Given the description of an element on the screen output the (x, y) to click on. 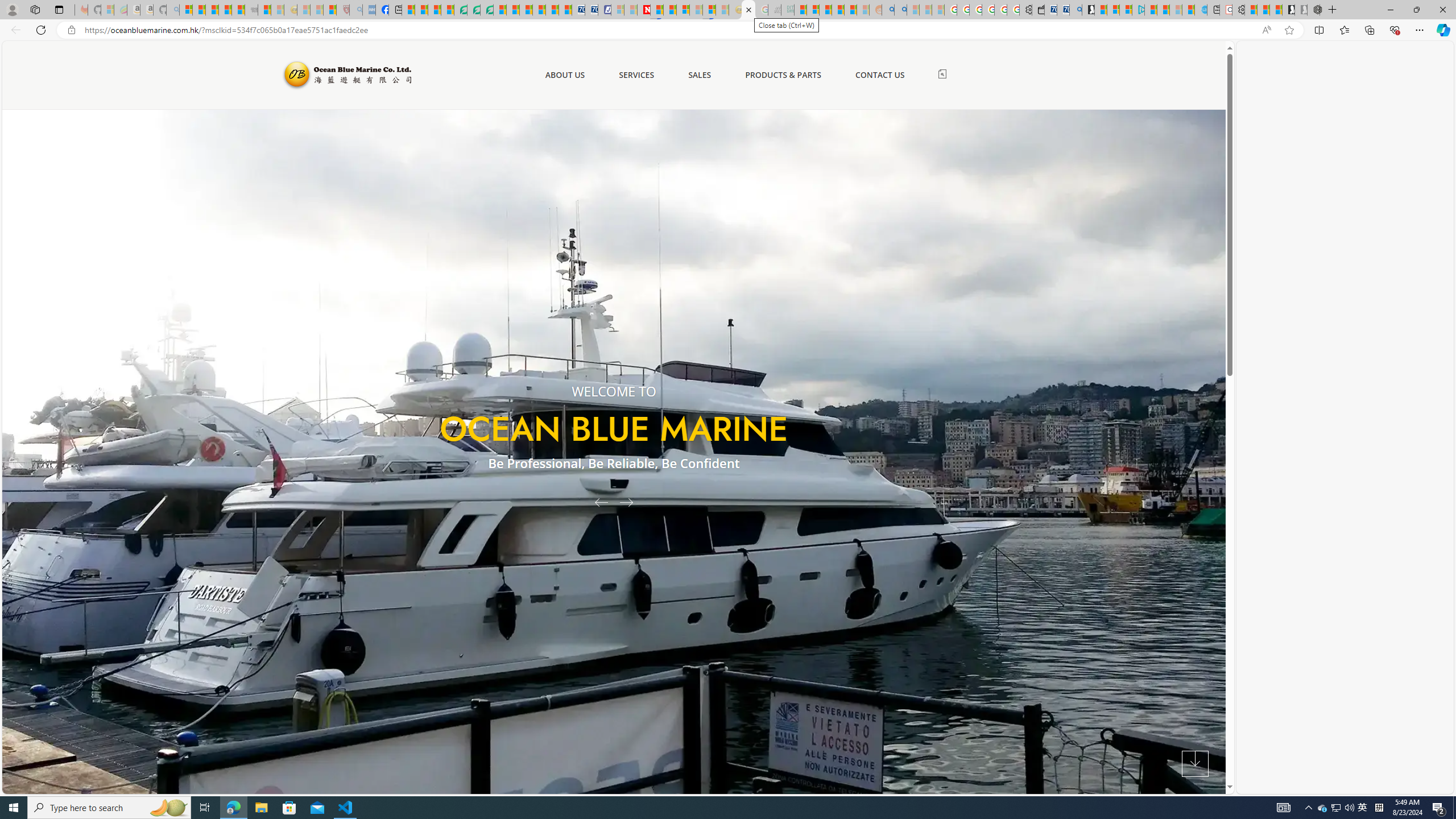
Next Slide (630, 501)
Cheap Hotels - Save70.com (590, 9)
